Given the description of an element on the screen output the (x, y) to click on. 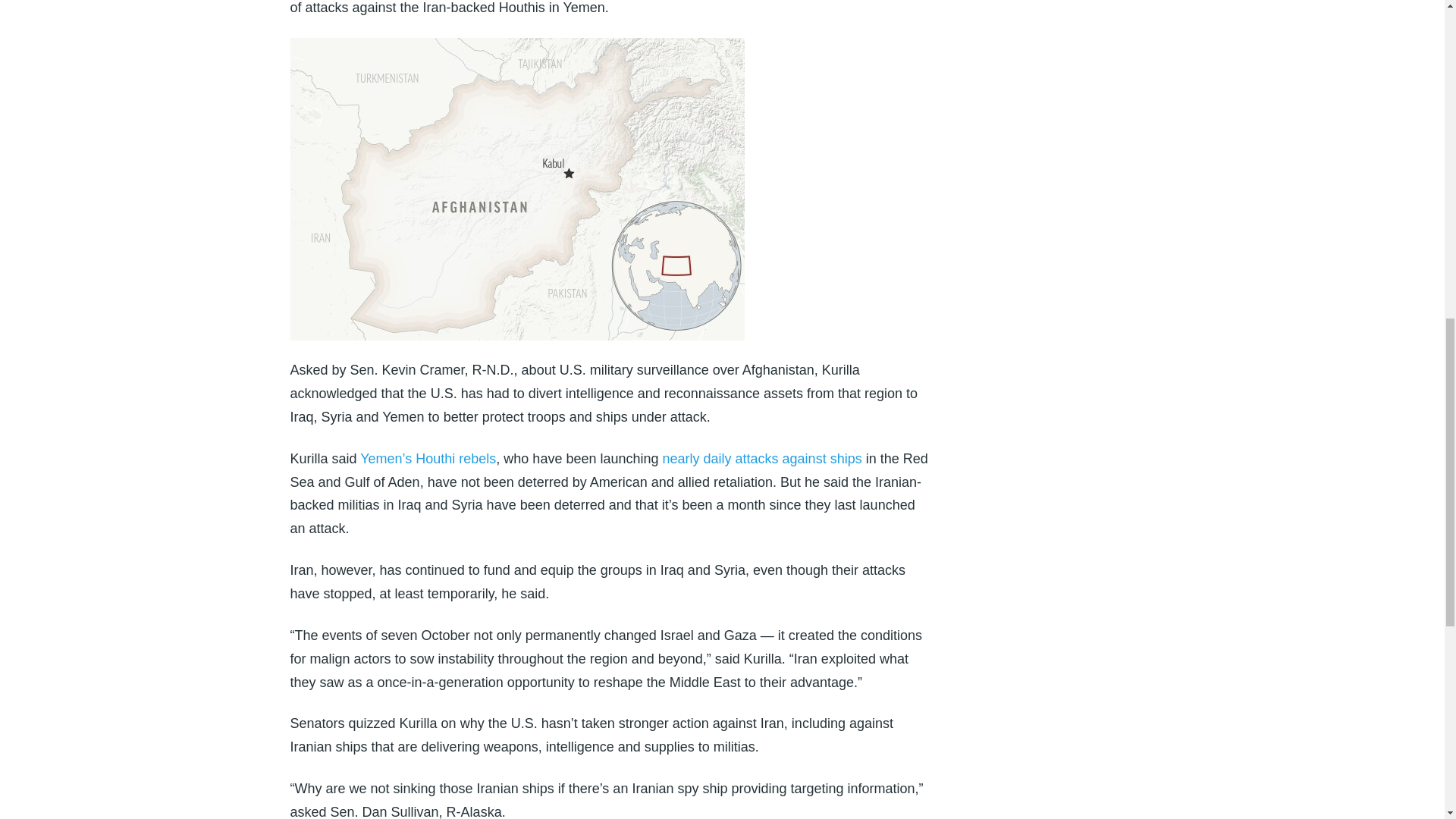
nearly daily attacks against ships (761, 458)
